Given the description of an element on the screen output the (x, y) to click on. 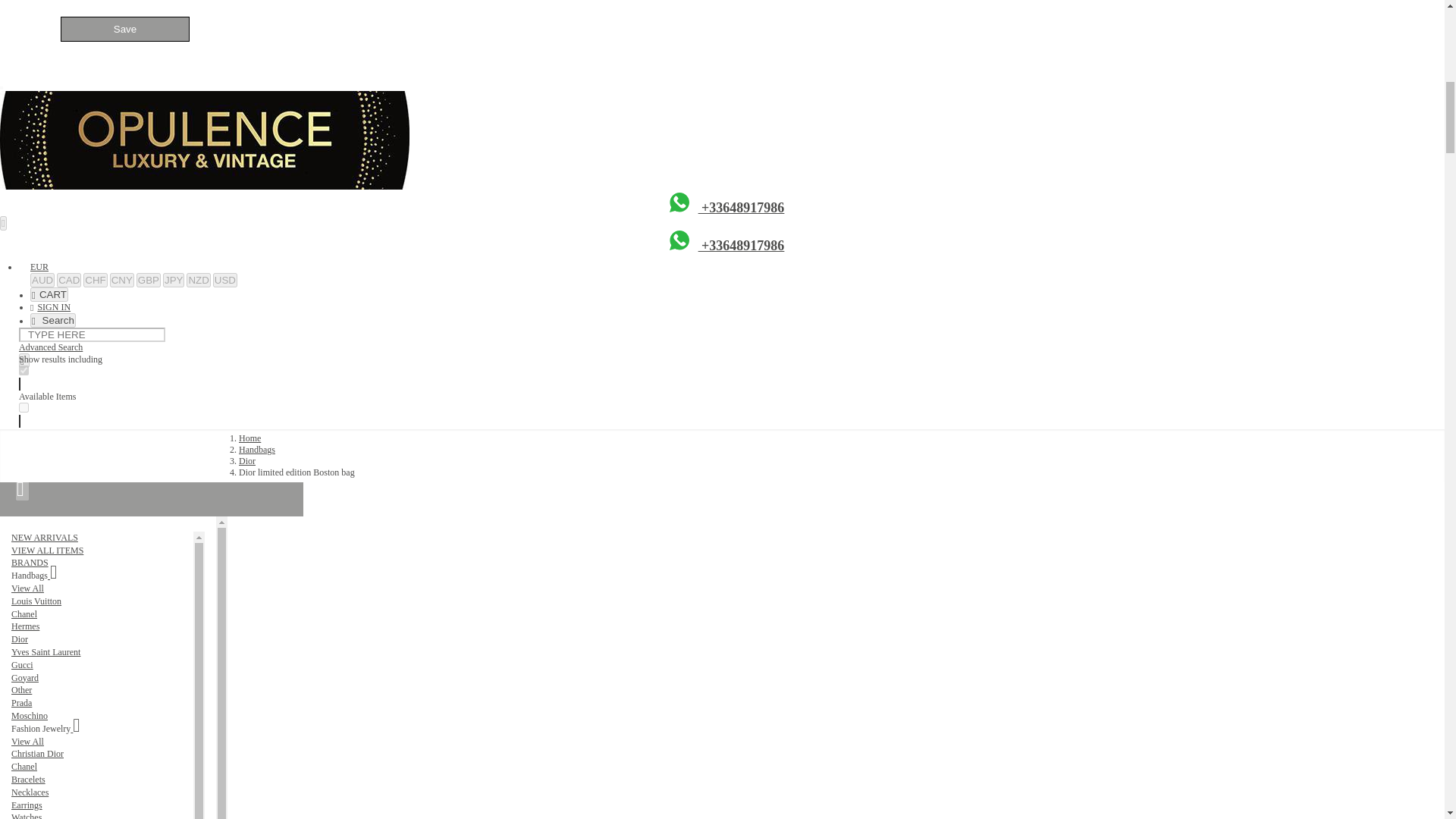
SIGN IN (49, 307)
Advanced Search (50, 347)
View All (27, 588)
Save (125, 28)
SIGN IN (49, 307)
Prada (21, 702)
Chanel (24, 614)
Yves Saint Laurent (45, 652)
CAD (68, 279)
CNY (121, 279)
BRANDS (29, 562)
USD (224, 279)
1 (23, 407)
Search (52, 319)
Other (21, 689)
